Given the description of an element on the screen output the (x, y) to click on. 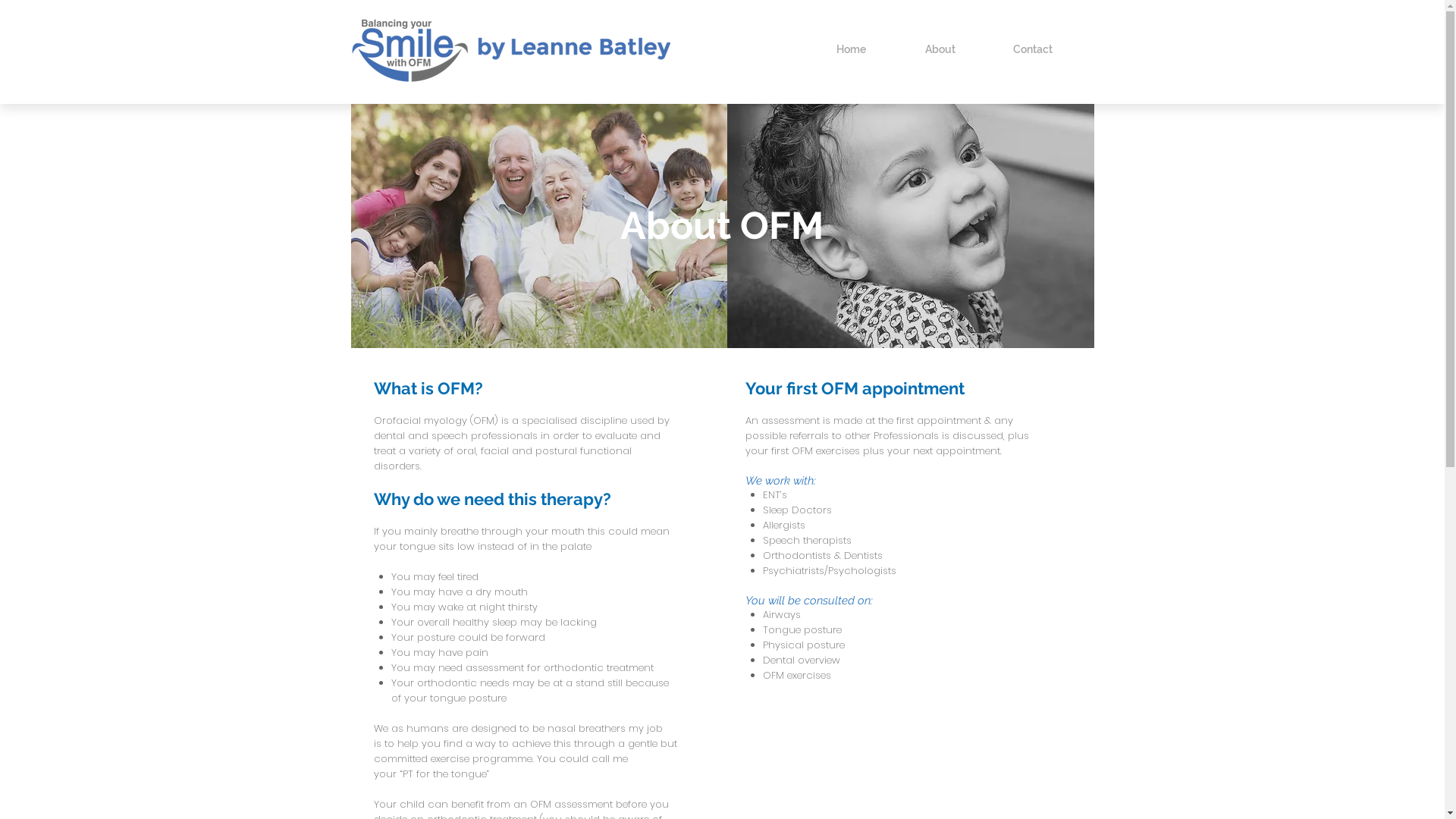
Home Element type: text (872, 49)
Contact Element type: text (1048, 49)
